Given the description of an element on the screen output the (x, y) to click on. 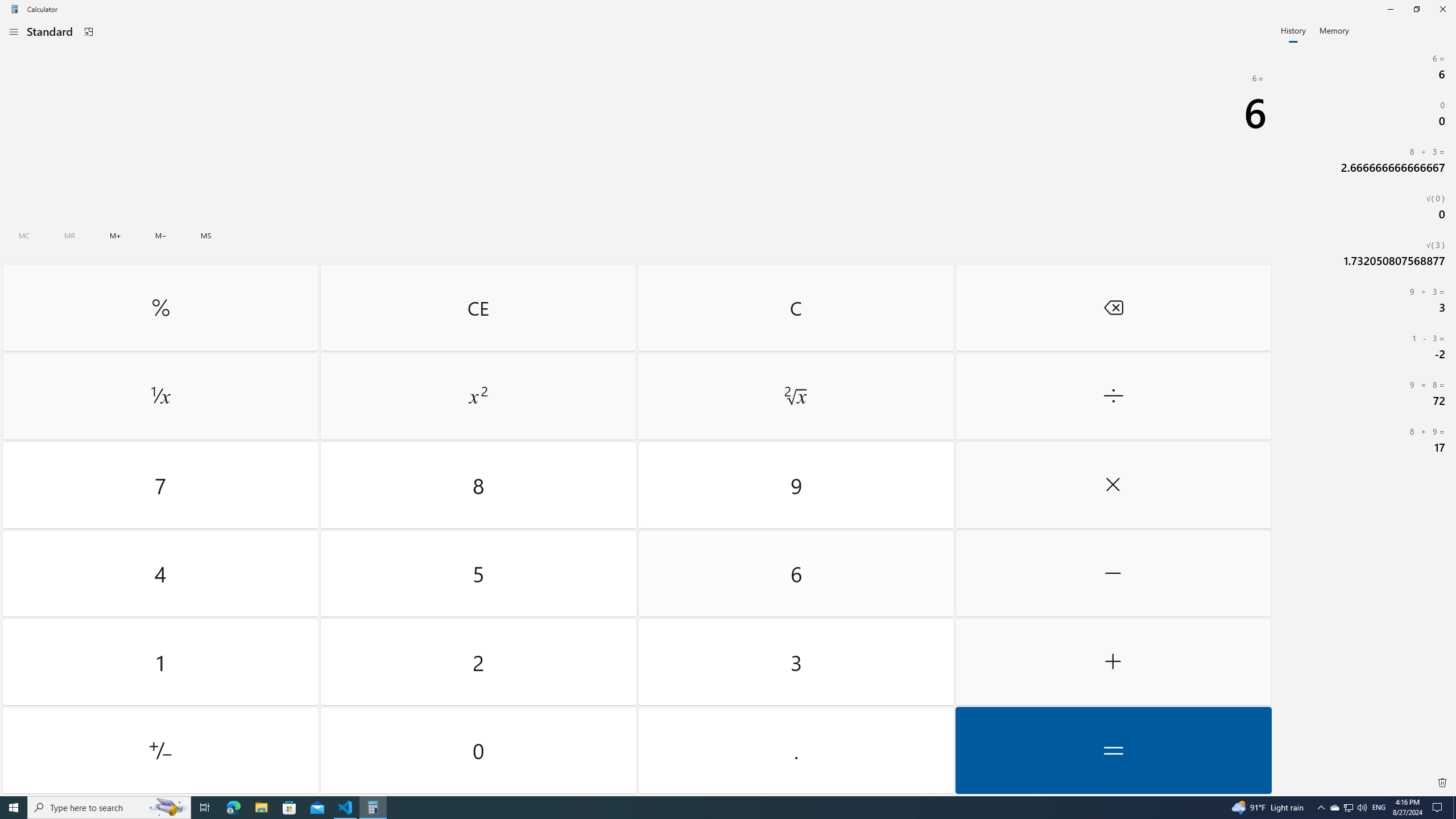
Nine (795, 485)
Calculator - 1 running window (373, 807)
Tray Input Indicator - English (United States) (1378, 807)
Equals (1113, 749)
Open Navigation (13, 31)
Memory recall (69, 235)
